Given the description of an element on the screen output the (x, y) to click on. 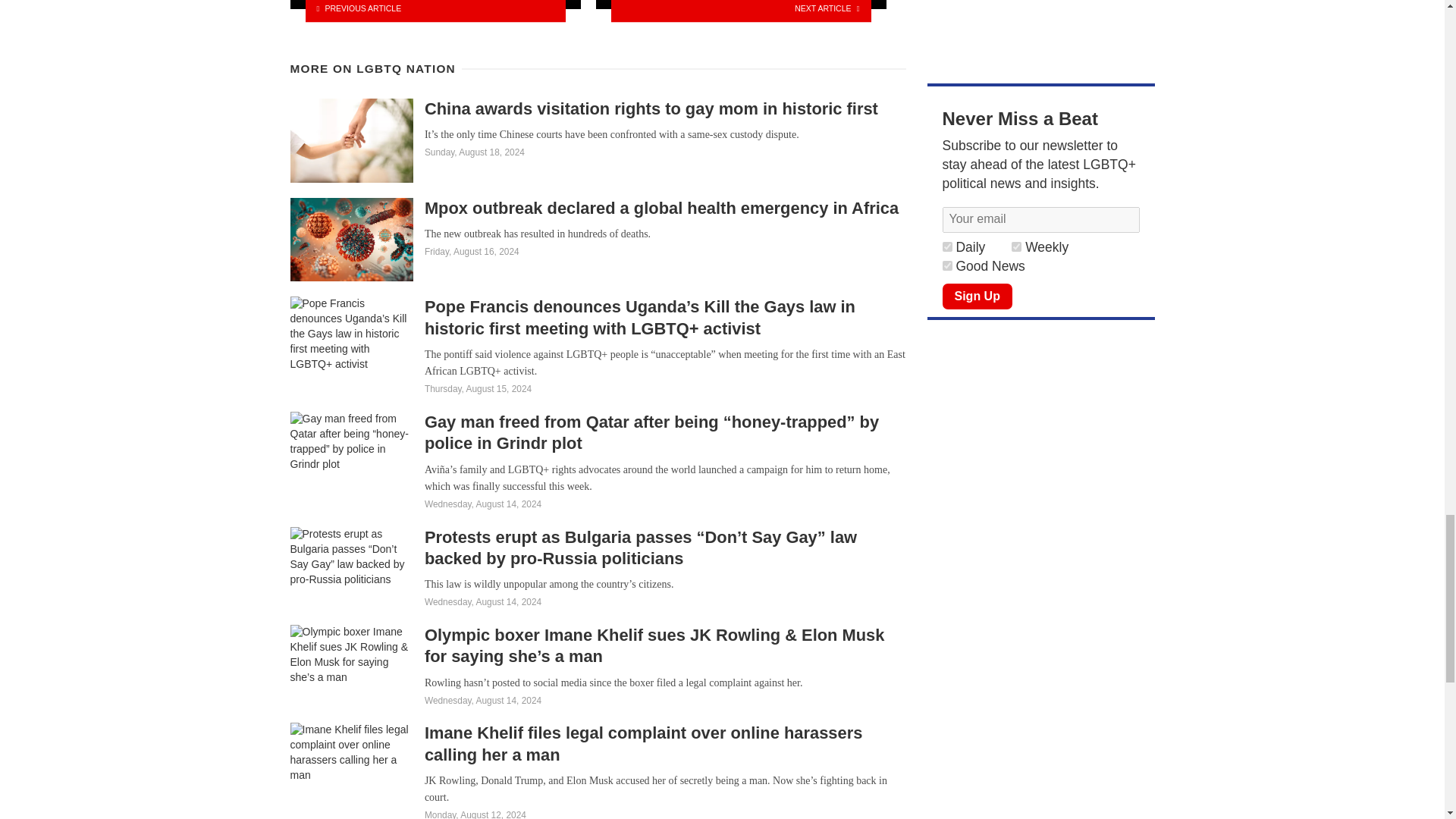
1920885 (947, 246)
1920884 (1016, 246)
Sign Up (976, 296)
1920883 (947, 266)
